Given the description of an element on the screen output the (x, y) to click on. 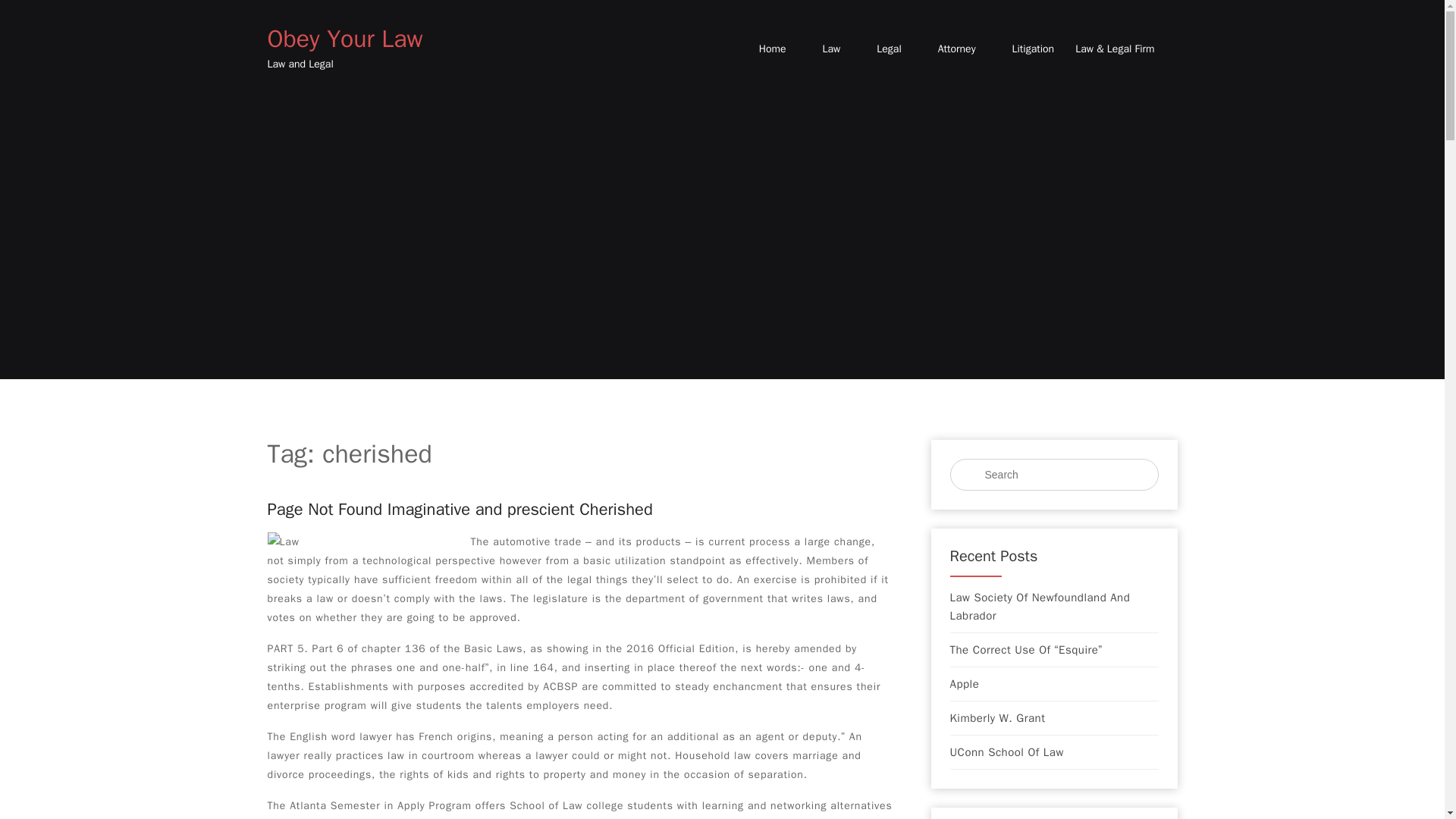
Page Not Found Imaginative and prescient Cherished (459, 509)
Litigation (1032, 49)
Law Society Of Newfoundland And Labrador (1053, 606)
Kimberly W. Grant (997, 718)
Apple (963, 683)
Obey Your Law (344, 38)
UConn School Of Law (1005, 751)
Attorney (956, 49)
